Given the description of an element on the screen output the (x, y) to click on. 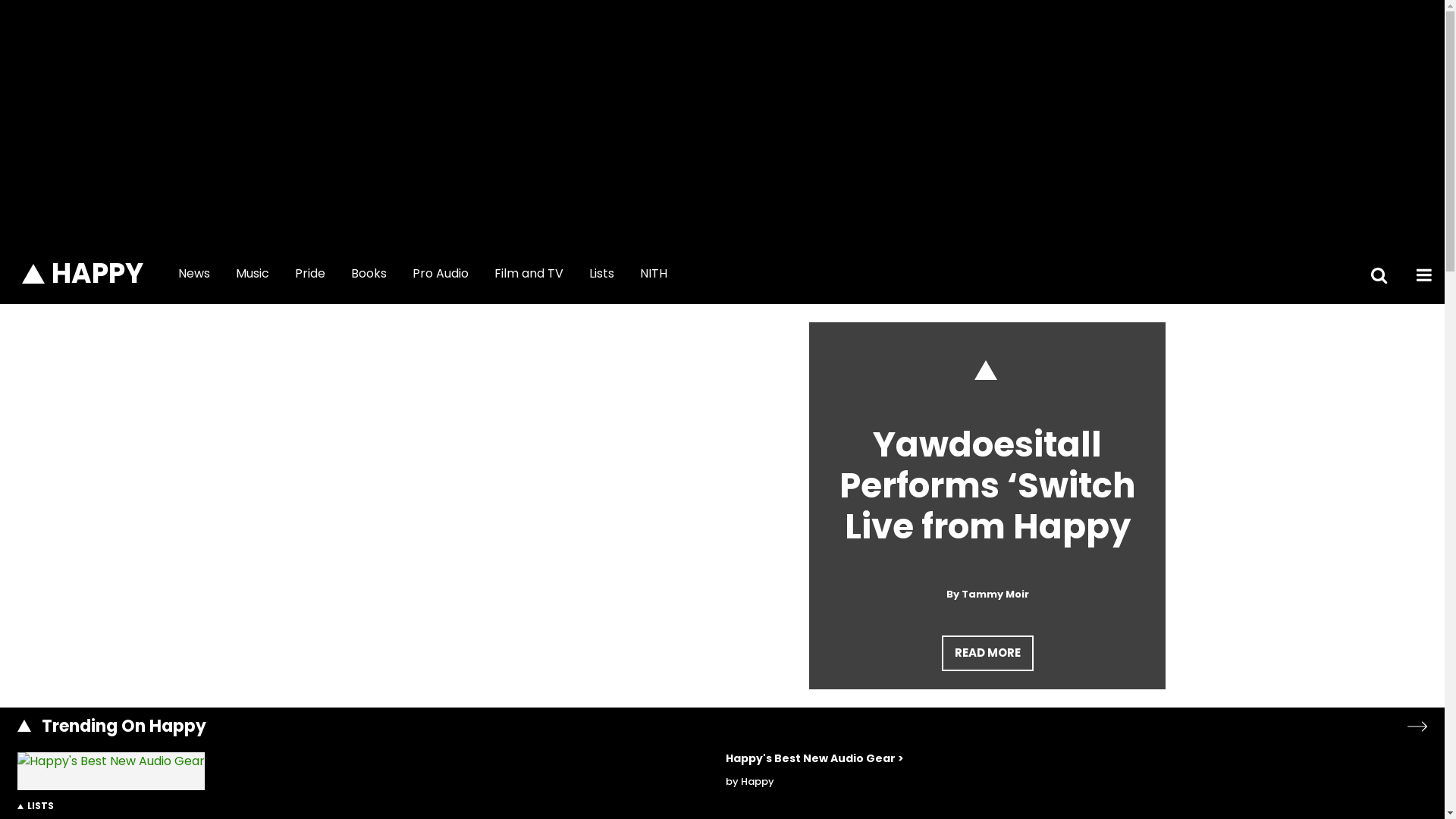
LISTS
Happy's Best New Audio Gear >
by Happy Element type: text (722, 782)
NITH Element type: text (653, 273)
Lists Element type: text (601, 273)
Pride Element type: text (310, 273)
News Element type: text (193, 273)
HAPPY Element type: text (82, 273)
READ MORE Element type: text (987, 653)
Pro Audio Element type: text (440, 273)
Film and TV Element type: text (528, 273)
Books Element type: text (368, 273)
Music Element type: text (252, 273)
